Given the description of an element on the screen output the (x, y) to click on. 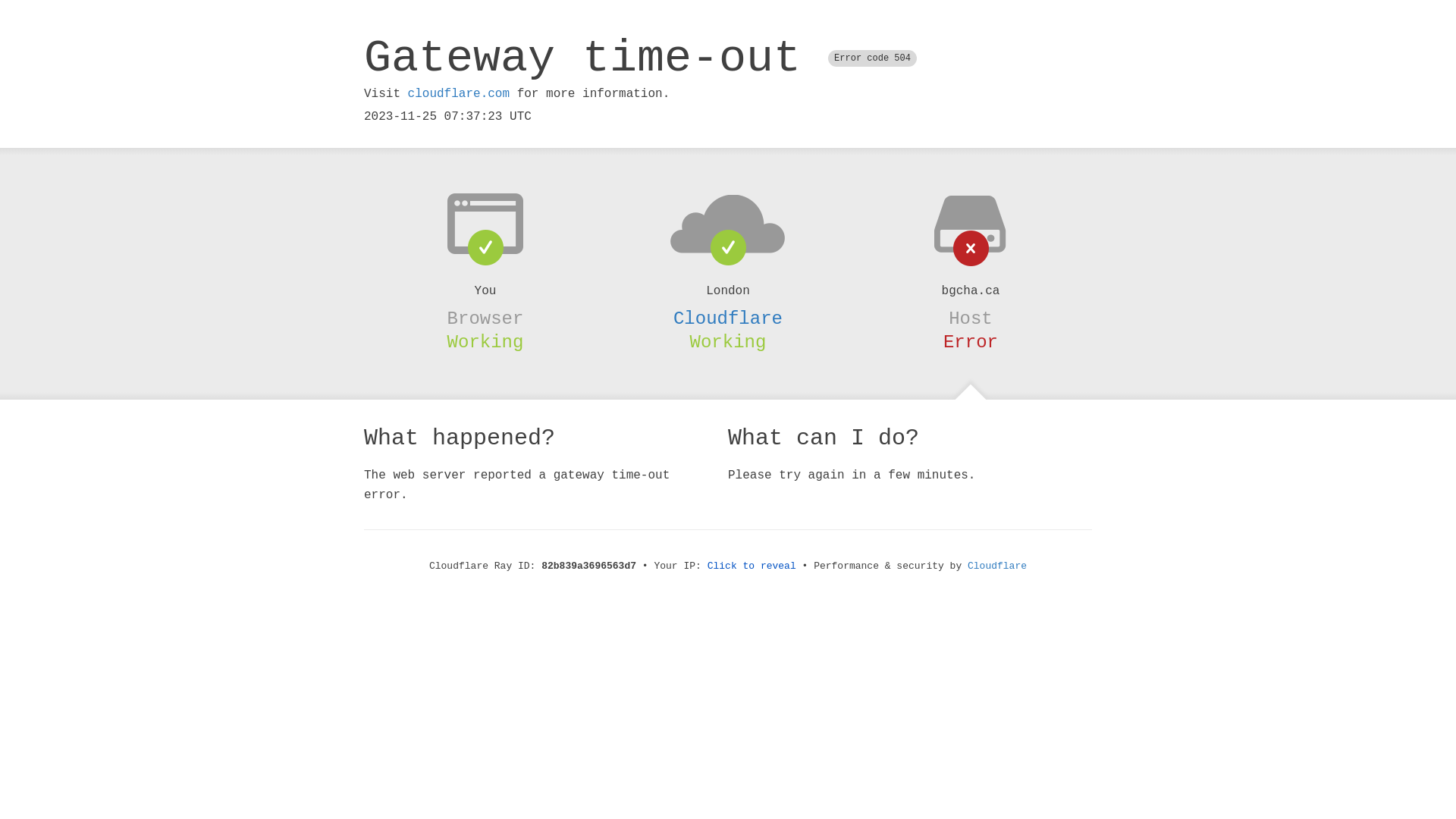
cloudflare.com Element type: text (458, 93)
Click to reveal Element type: text (751, 565)
Cloudflare Element type: text (996, 565)
Cloudflare Element type: text (727, 318)
